Given the description of an element on the screen output the (x, y) to click on. 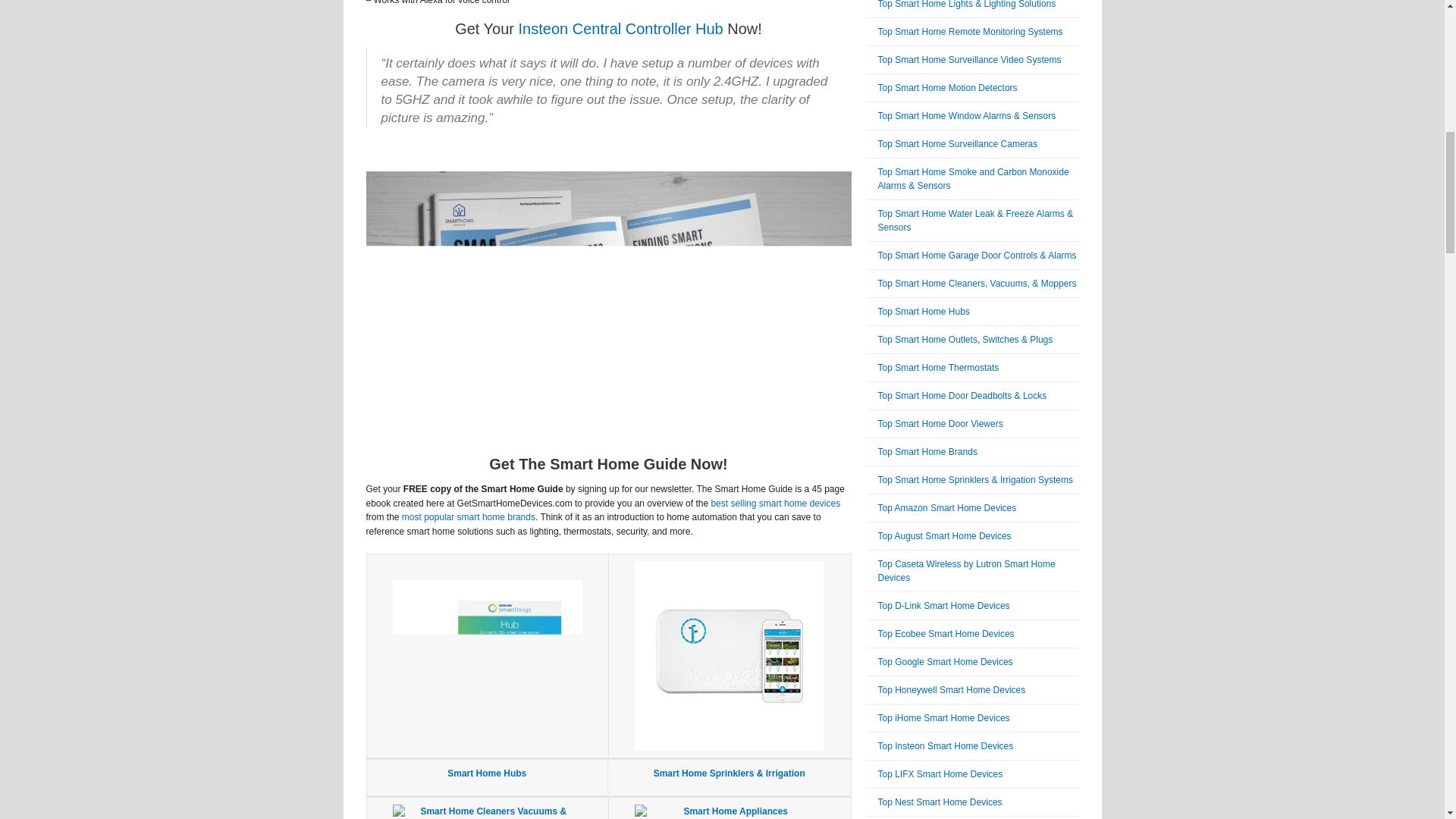
most popular smart home brands (468, 516)
Smart Home Hubs (485, 773)
best selling smart home devices (775, 502)
Insteon Central Controller Hub (620, 28)
